Given the description of an element on the screen output the (x, y) to click on. 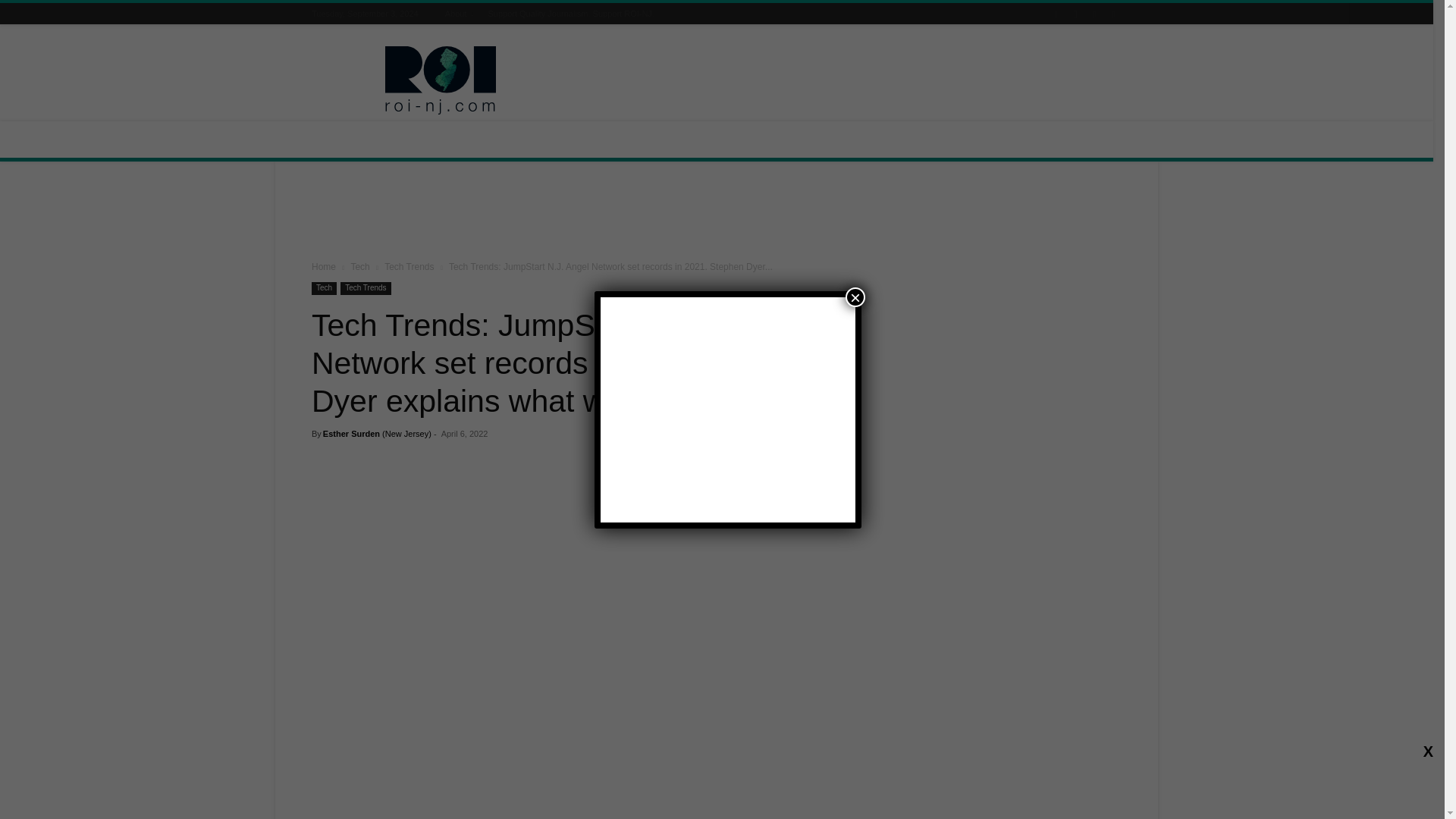
View all posts in Tech Trends (408, 266)
View all posts in Tech (359, 266)
